Given the description of an element on the screen output the (x, y) to click on. 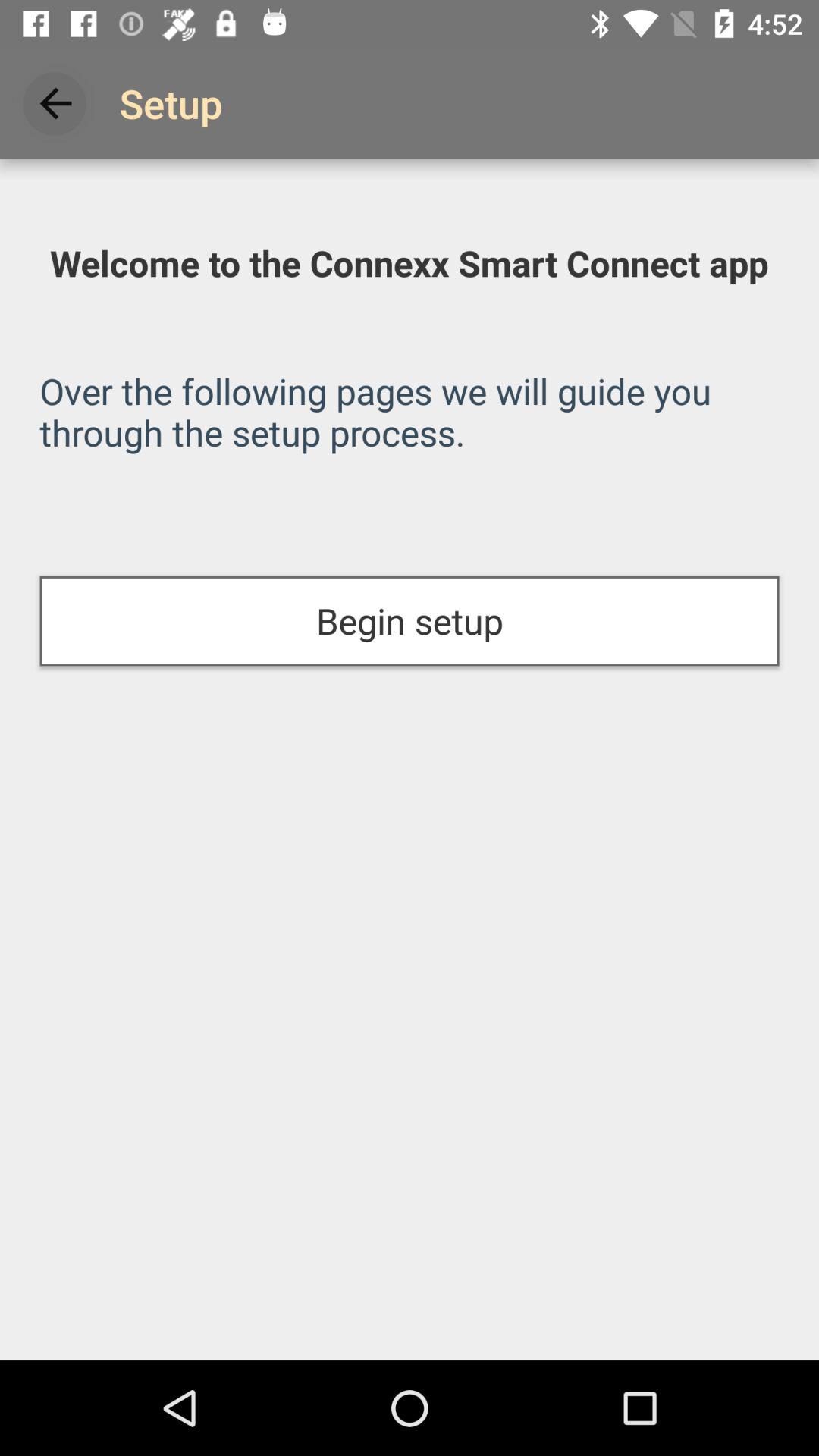
flip to begin setup icon (409, 621)
